Given the description of an element on the screen output the (x, y) to click on. 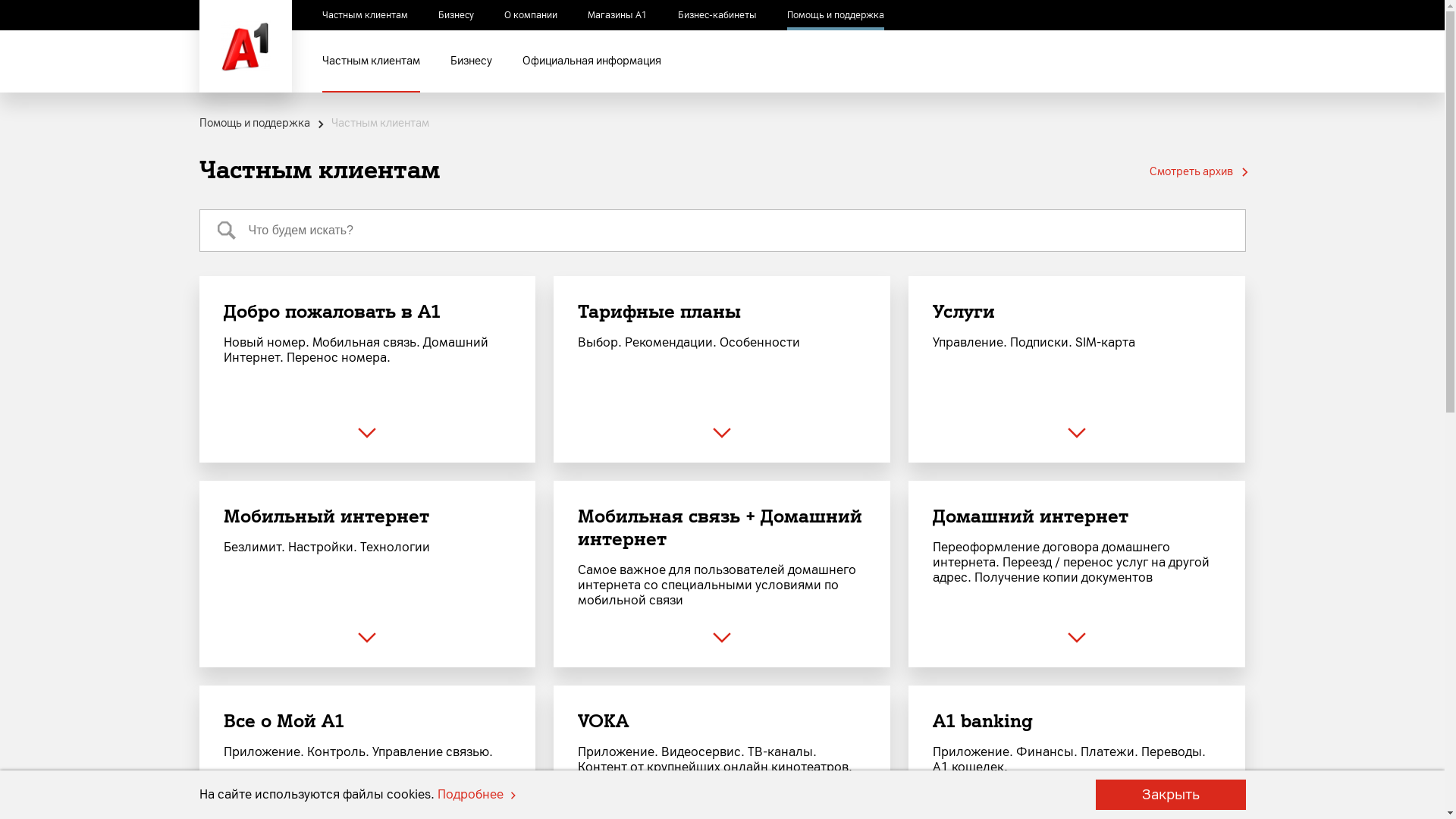
A1 Element type: hover (244, 45)
